Given the description of an element on the screen output the (x, y) to click on. 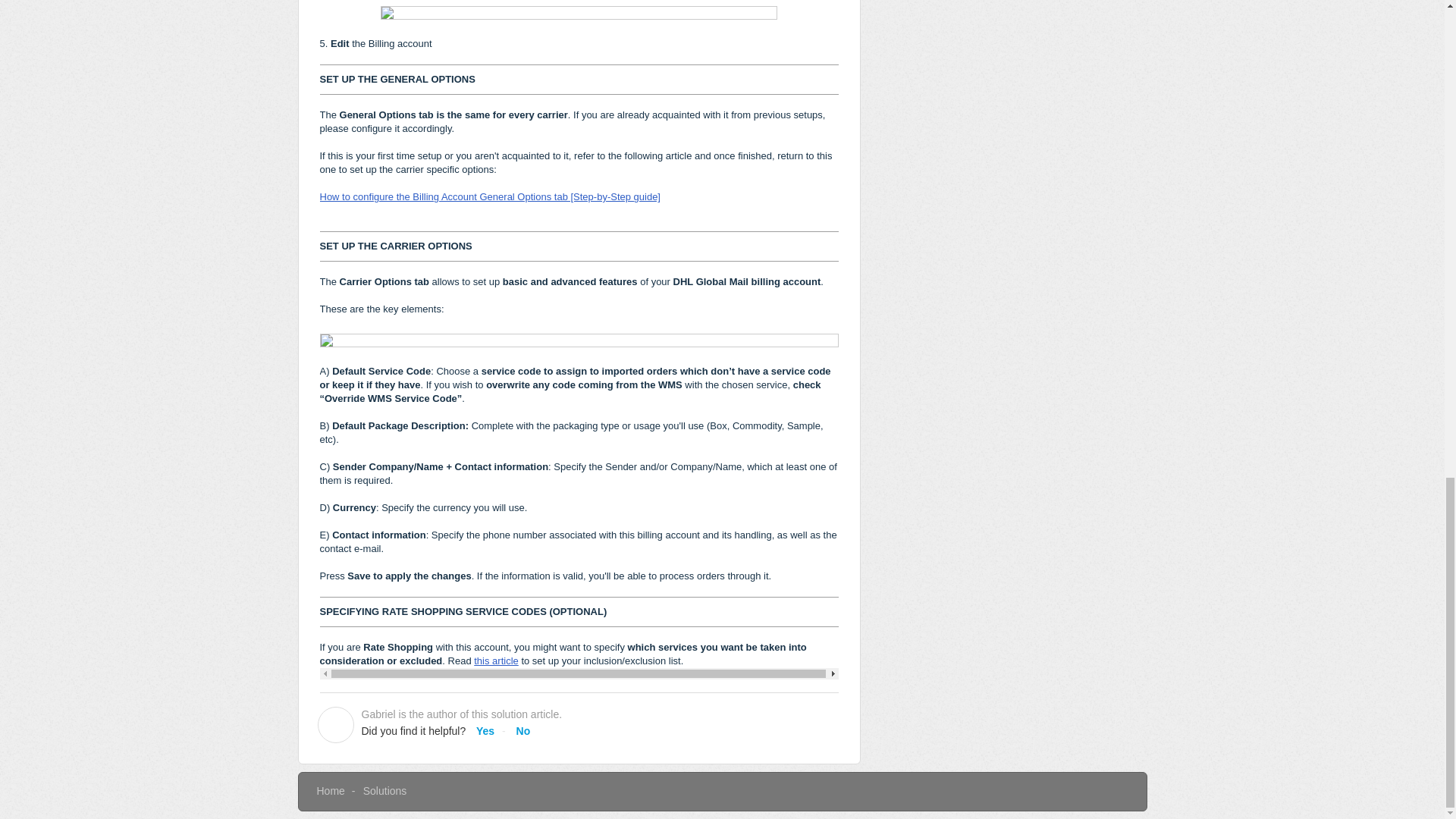
Solutions (384, 790)
Home (331, 790)
this article (496, 660)
